Given the description of an element on the screen output the (x, y) to click on. 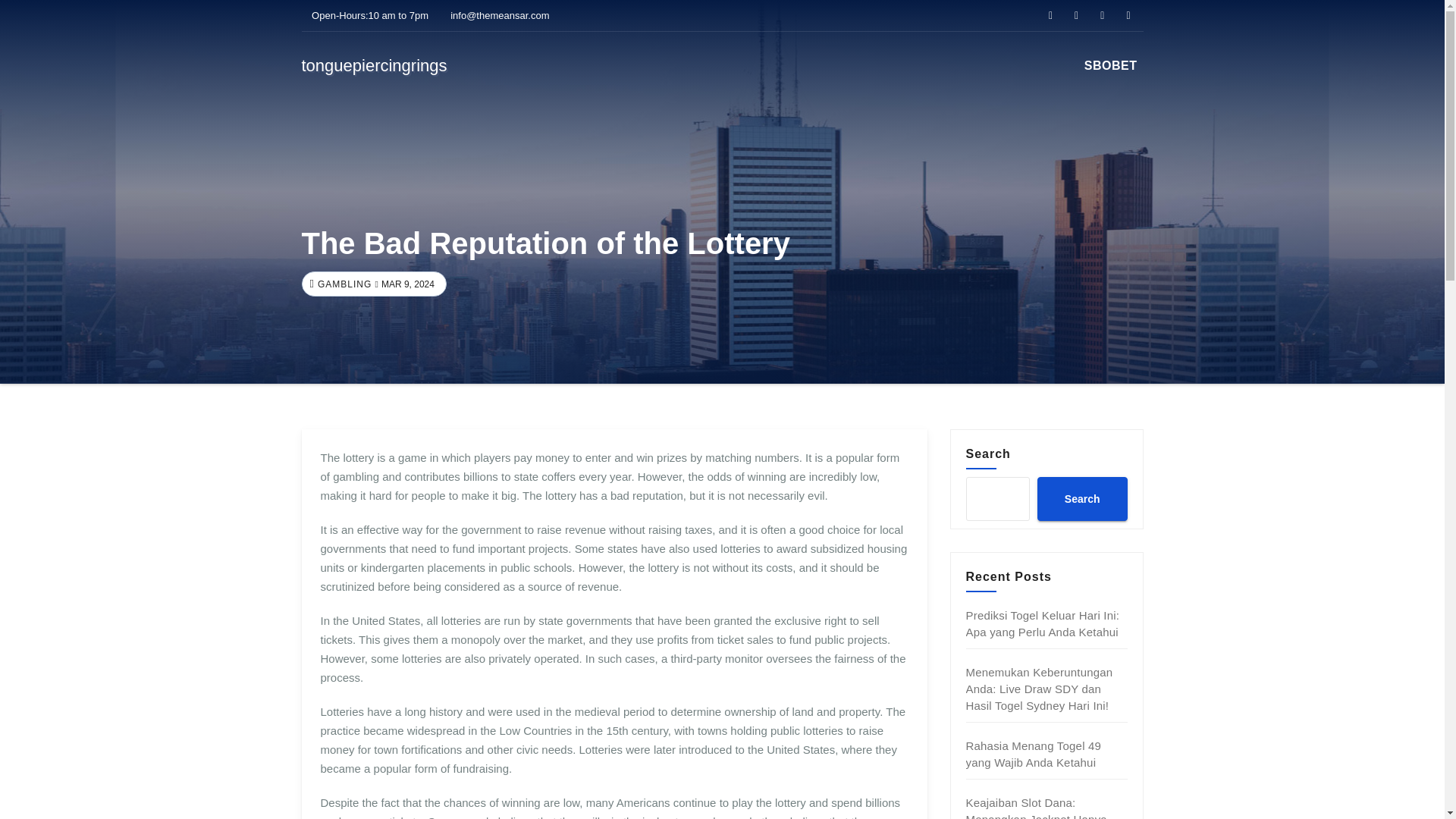
Rahasia Menang Togel 49 yang Wajib Anda Ketahui (1034, 754)
SBOBET (1110, 65)
Search (1081, 498)
Open-Hours:10 am to 7pm (365, 15)
GAMBLING (342, 284)
tonguepiercingrings (373, 65)
Prediksi Togel Keluar Hari Ini: Apa yang Perlu Anda Ketahui (1042, 623)
SBOBET (1110, 65)
